Given the description of an element on the screen output the (x, y) to click on. 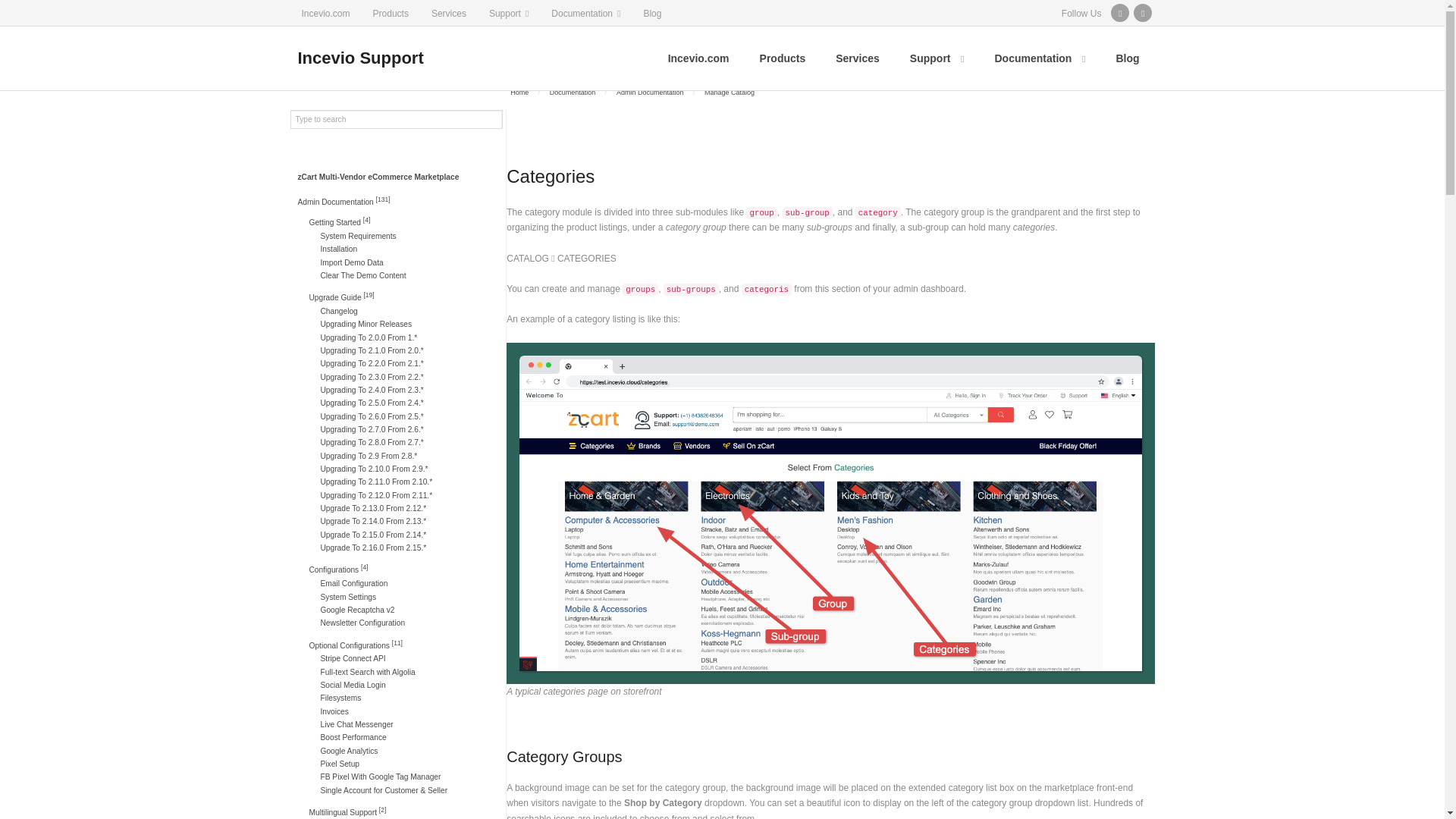
Products (782, 58)
Incevio Support (360, 58)
Services (858, 58)
Incevio.com (698, 58)
Support (937, 58)
Incevio Support (360, 58)
Blog (651, 12)
Incevio.com (325, 12)
Services (448, 12)
Support (508, 12)
